Given the description of an element on the screen output the (x, y) to click on. 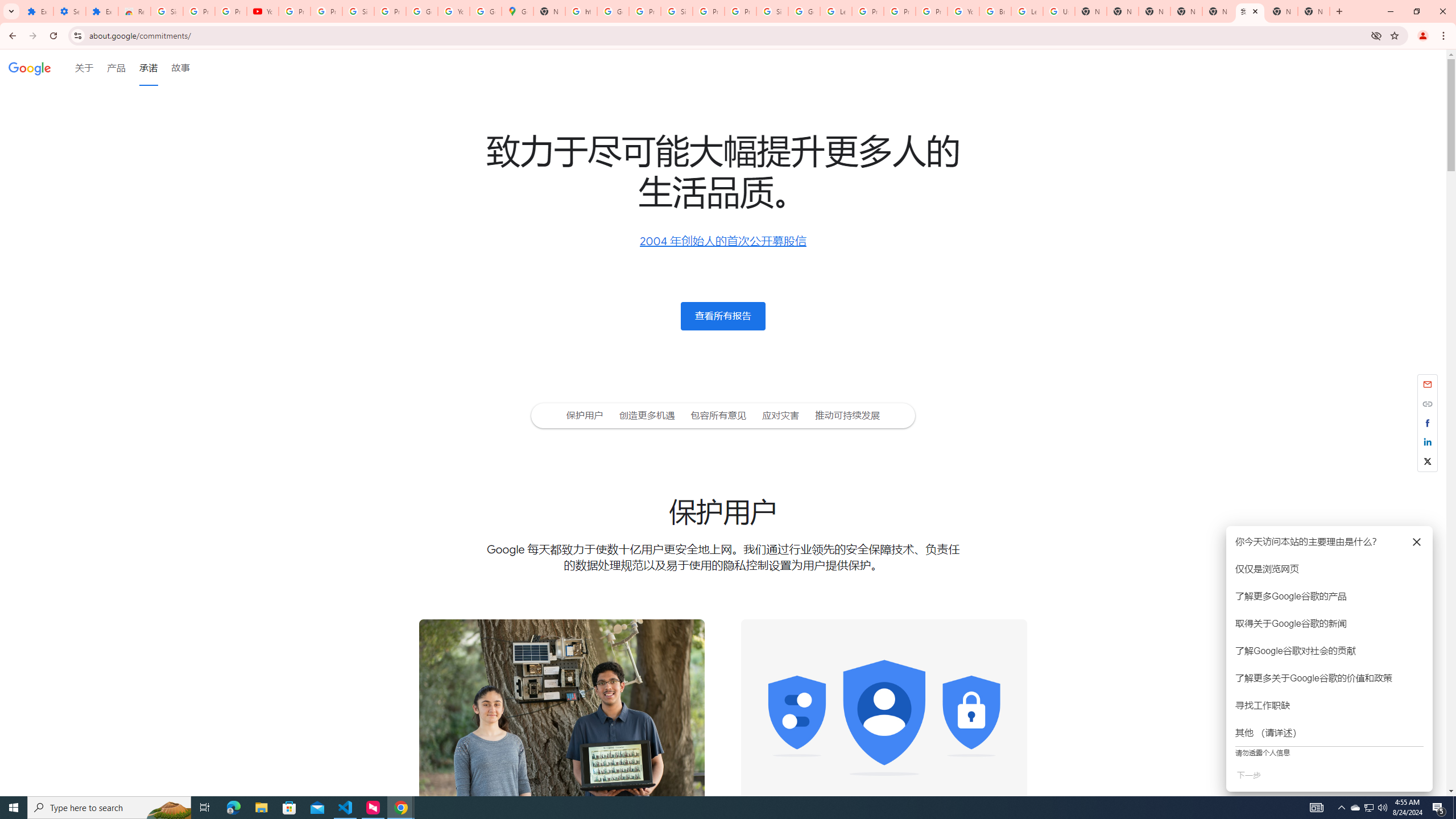
Reviews: Helix Fruit Jump Arcade Game (134, 11)
Sign in - Google Accounts (358, 11)
Google Account (421, 11)
Extensions (101, 11)
Third-party cookies blocked (1376, 35)
